Given the description of an element on the screen output the (x, y) to click on. 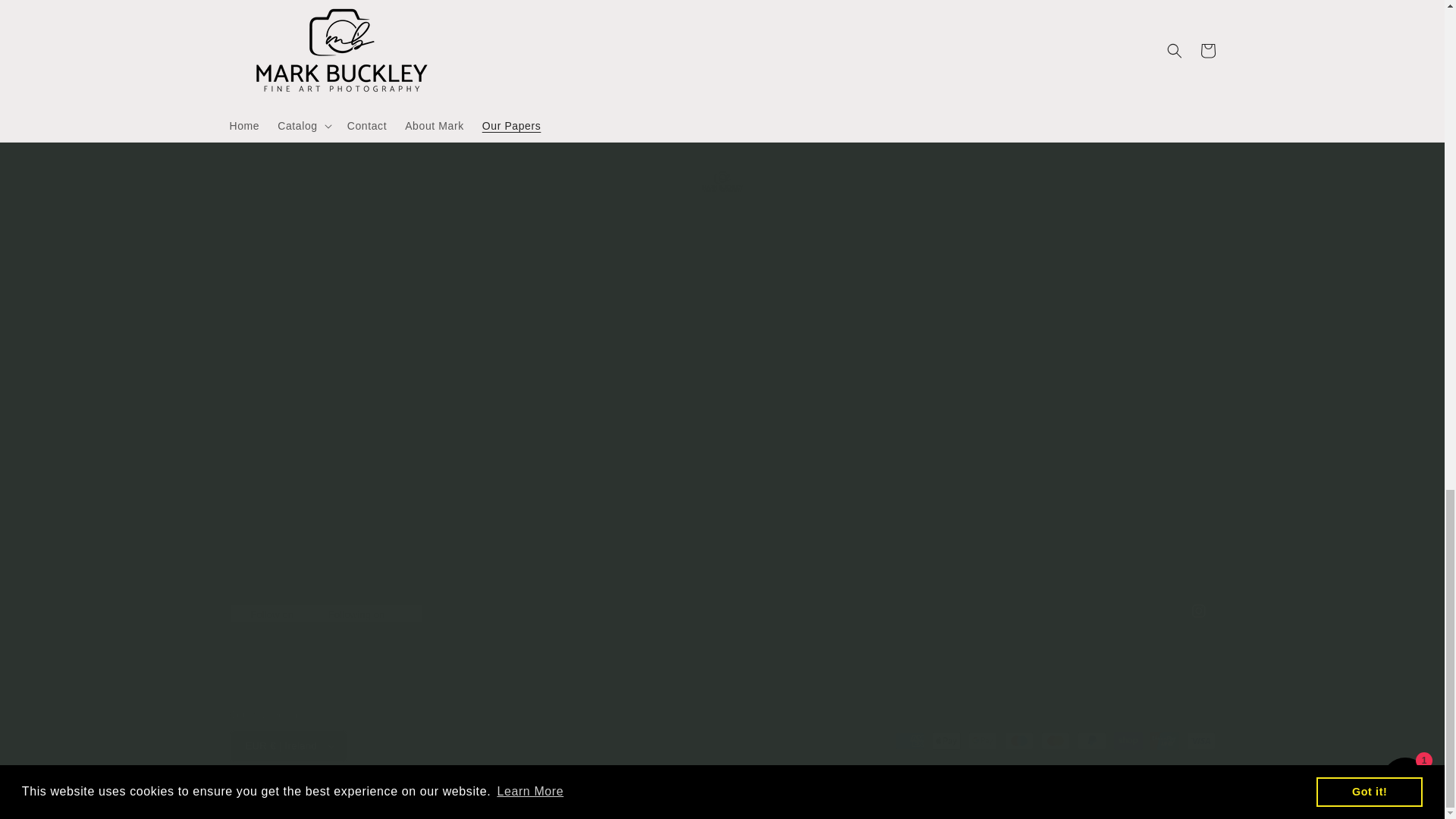
Powered by Shopify (457, 798)
Instagram (721, 611)
Mark Buckley Fine Art Photography (338, 798)
Email (722, 86)
Instagram (1197, 611)
Subscribe to our email newsletter (721, 8)
